Given the description of an element on the screen output the (x, y) to click on. 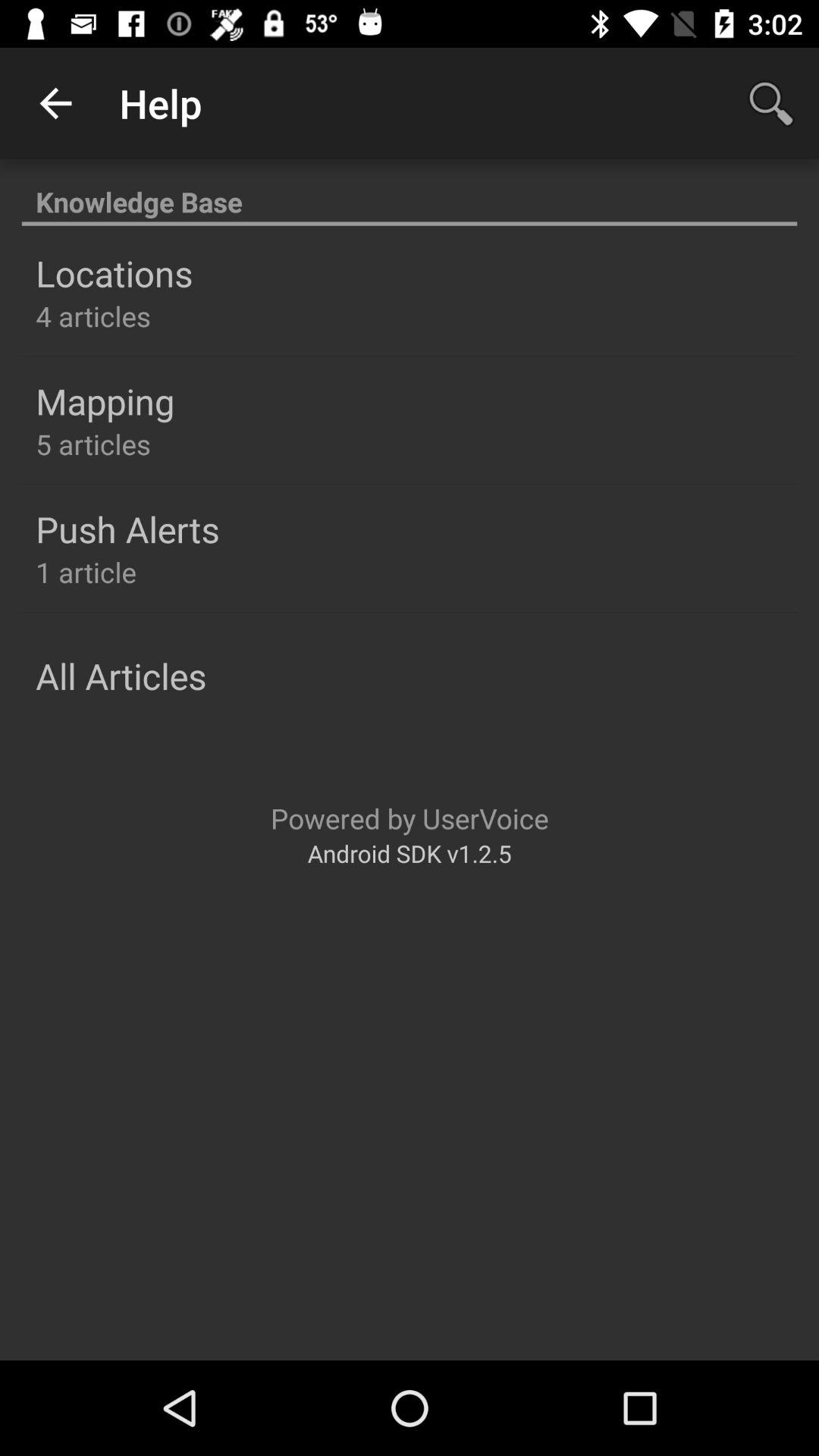
tap the android sdk v1 icon (409, 853)
